Given the description of an element on the screen output the (x, y) to click on. 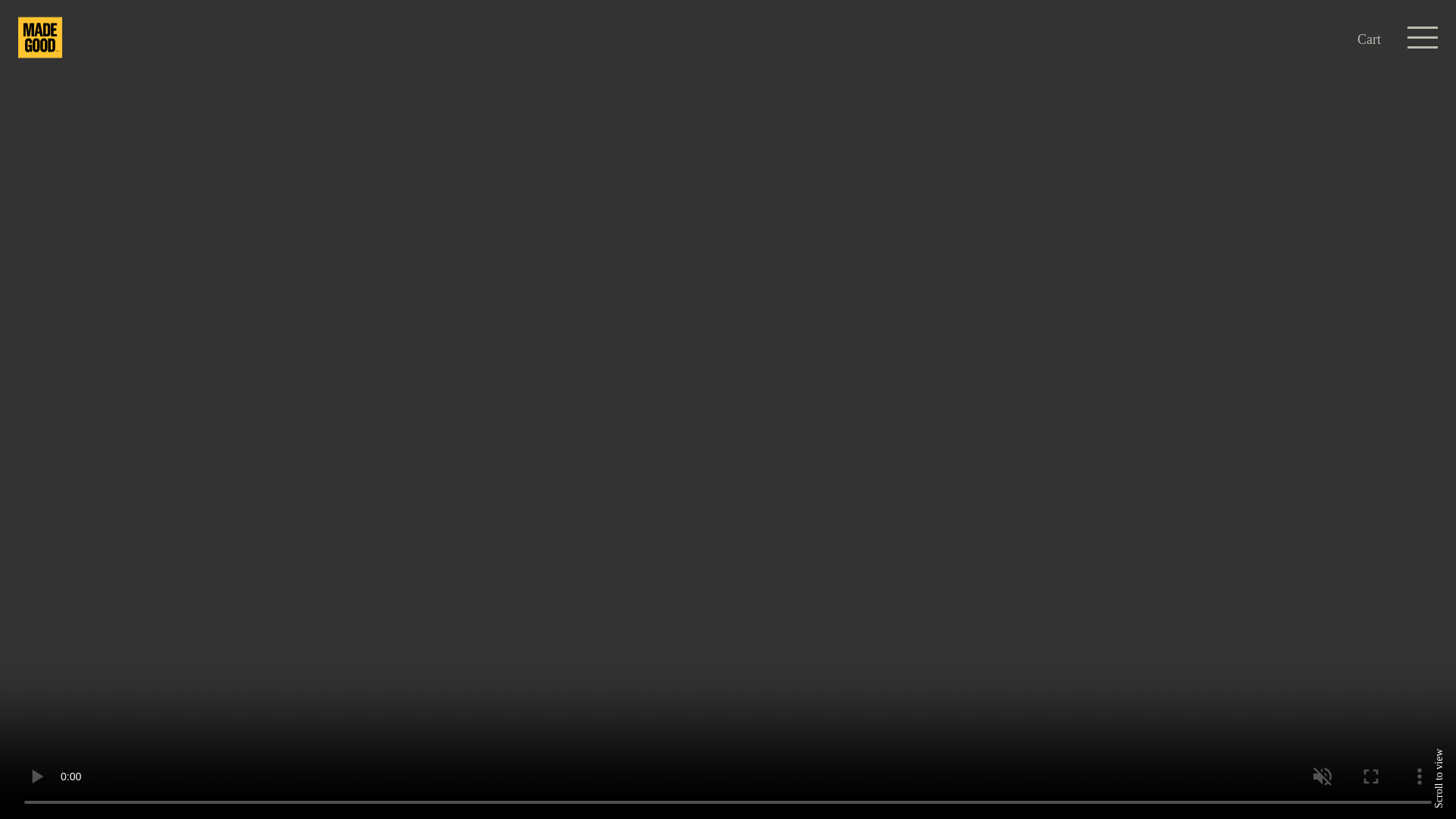
Scroll to view (1439, 754)
